Given the description of an element on the screen output the (x, y) to click on. 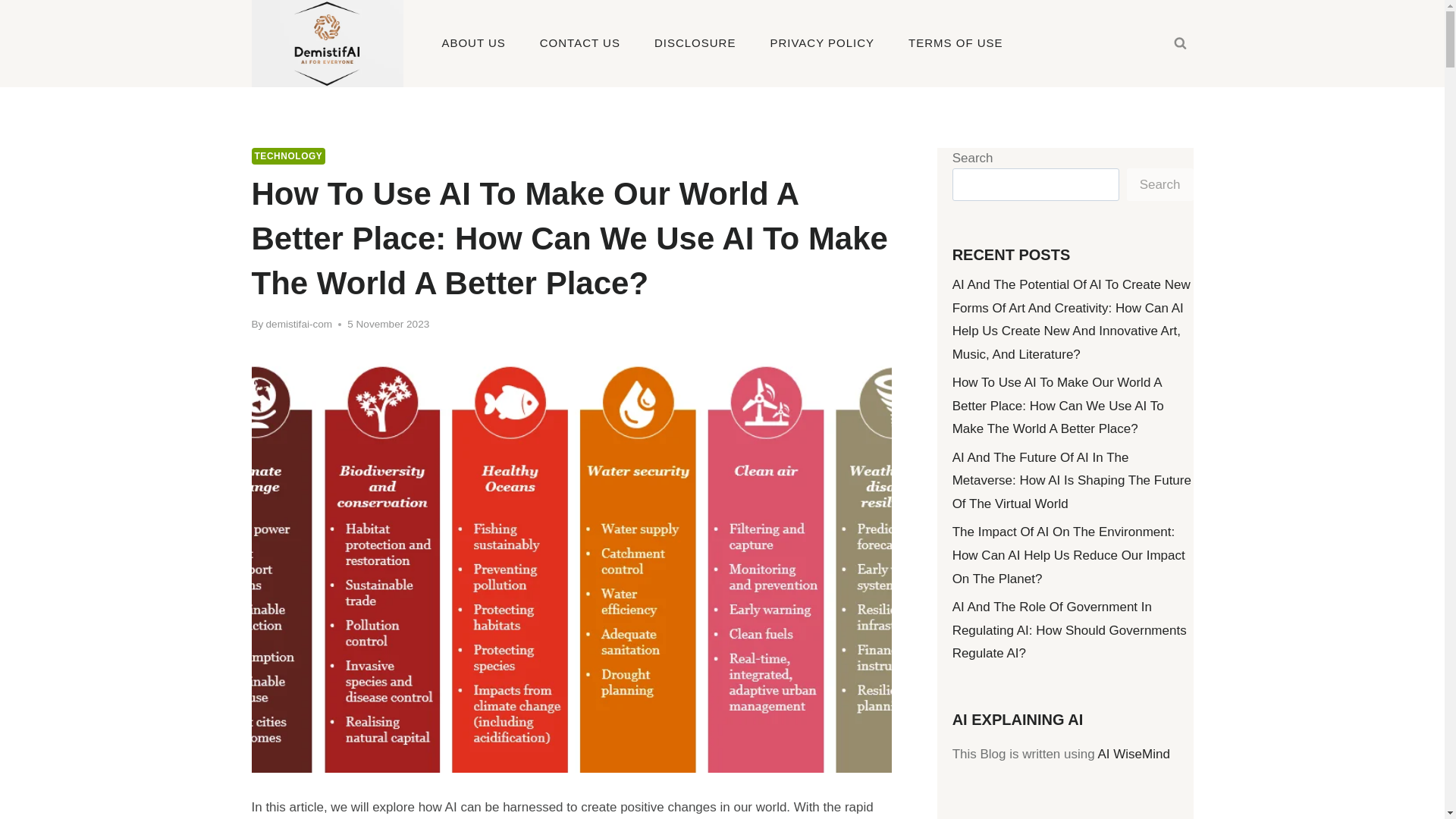
PRIVACY POLICY (821, 43)
TERMS OF USE (955, 43)
demistifai-com (299, 324)
TECHNOLOGY (288, 156)
DISCLOSURE (694, 43)
CONTACT US (579, 43)
ABOUT US (473, 43)
